Given the description of an element on the screen output the (x, y) to click on. 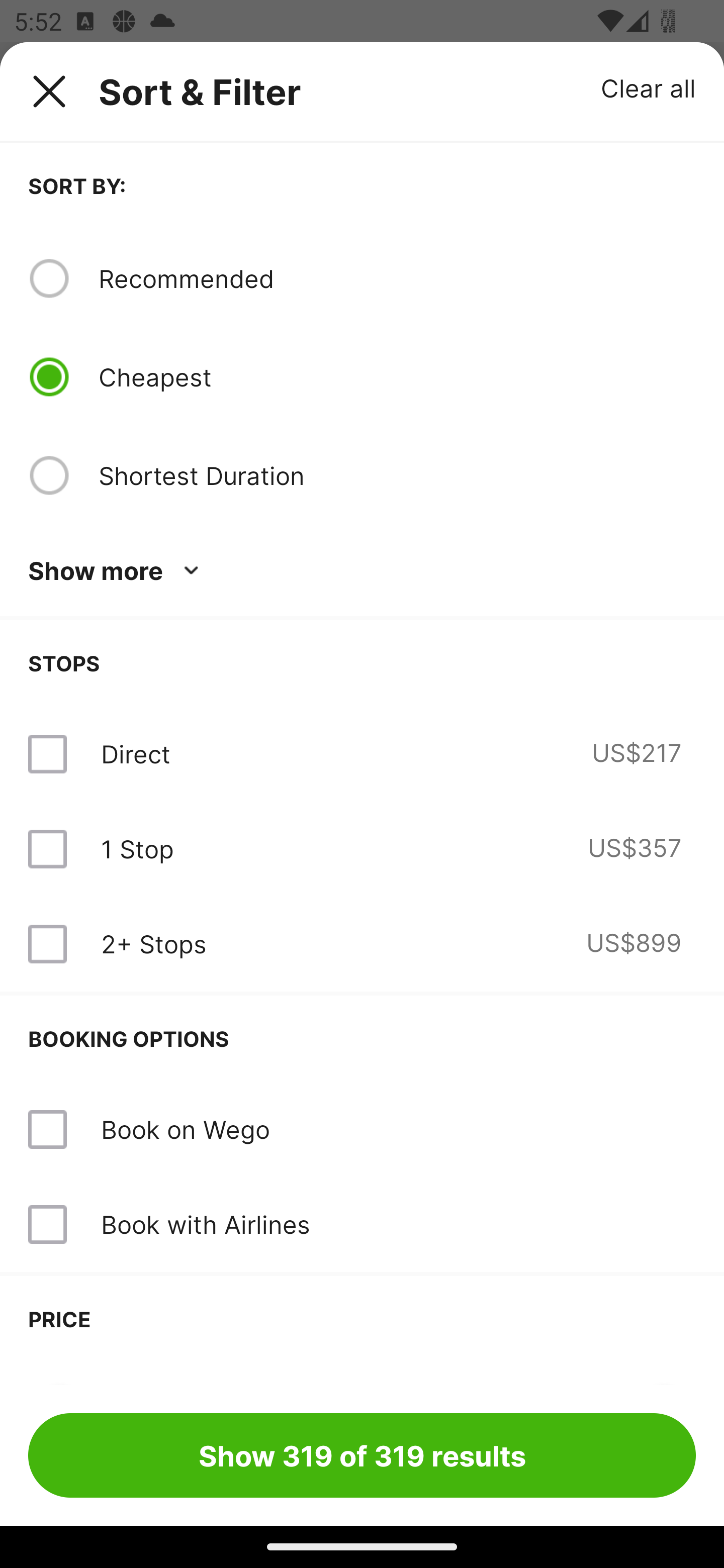
Clear all (648, 87)
Recommended  (396, 278)
Cheapest (396, 377)
Shortest Duration (396, 474)
Show more (116, 570)
Direct US$217 (362, 754)
Direct (135, 753)
1 Stop US$357 (362, 848)
1 Stop (136, 849)
2+ Stops US$899 (362, 943)
2+ Stops (153, 943)
Book on Wego (362, 1129)
Book on Wego (184, 1128)
Book with Airlines (362, 1224)
Book with Airlines (204, 1224)
Show 319 of 319 results (361, 1454)
